Given the description of an element on the screen output the (x, y) to click on. 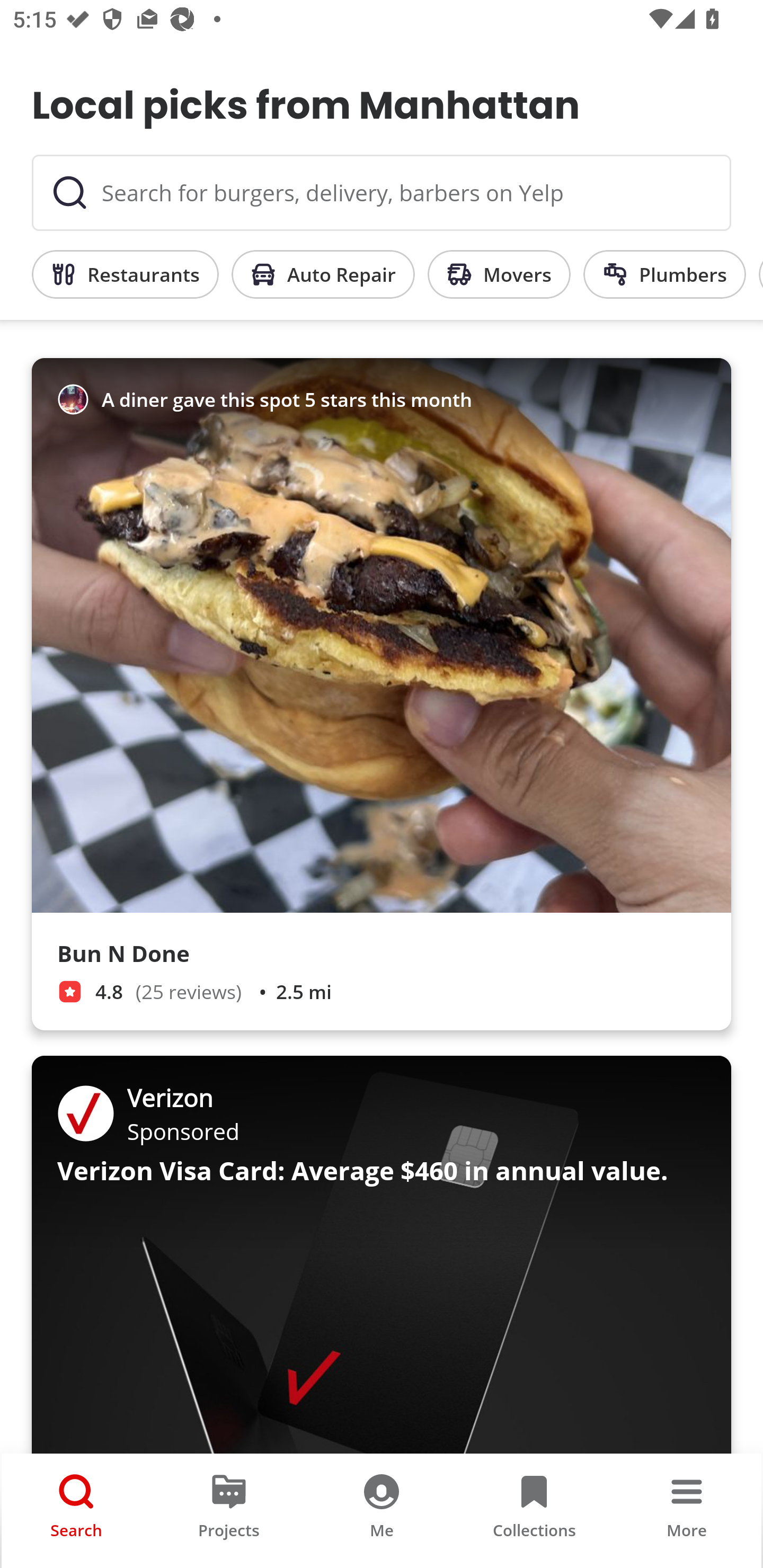
Search for burgers, delivery, barbers on Yelp (381, 192)
